Given the description of an element on the screen output the (x, y) to click on. 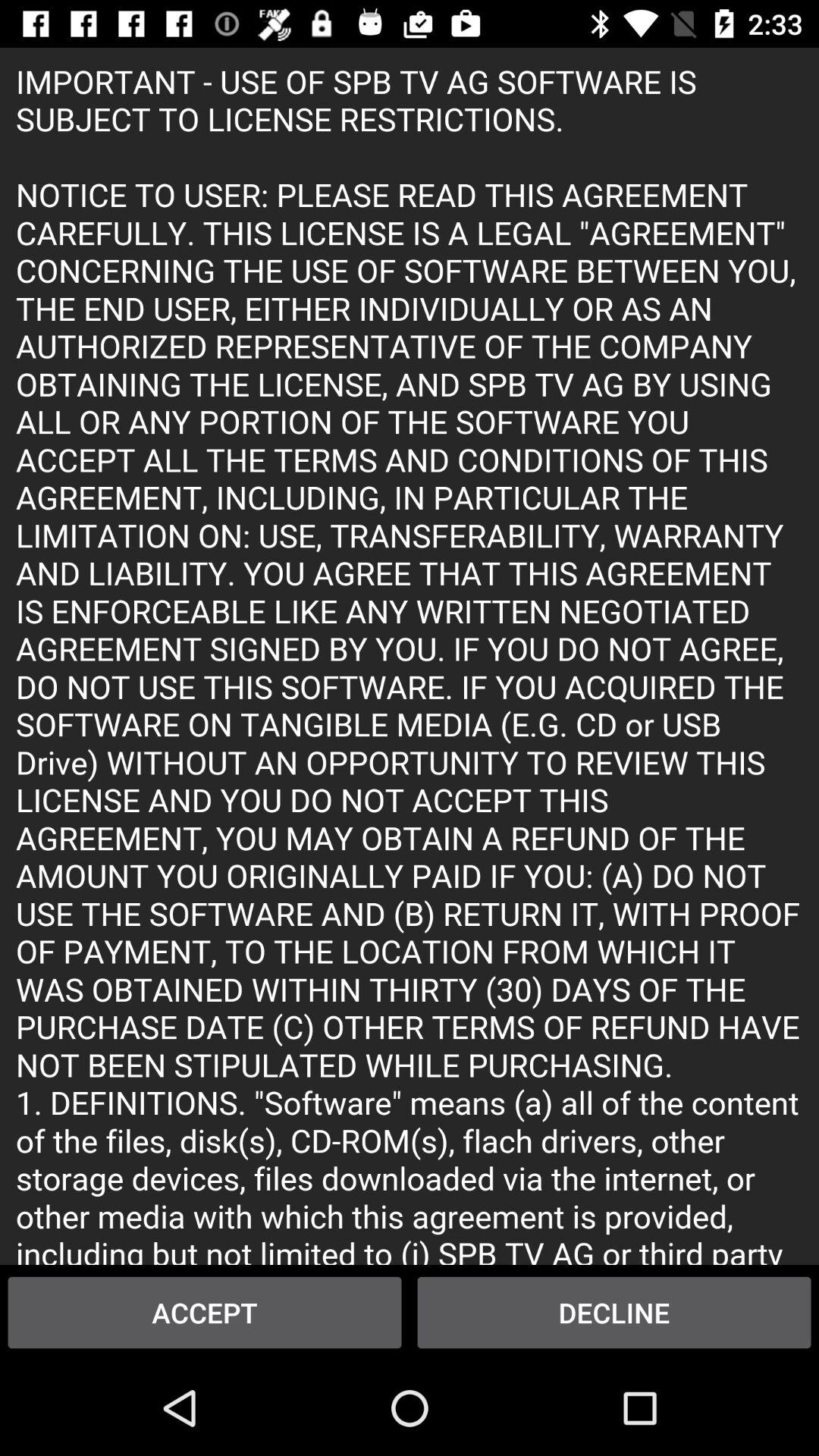
click the item to the left of decline icon (204, 1312)
